Given the description of an element on the screen output the (x, y) to click on. 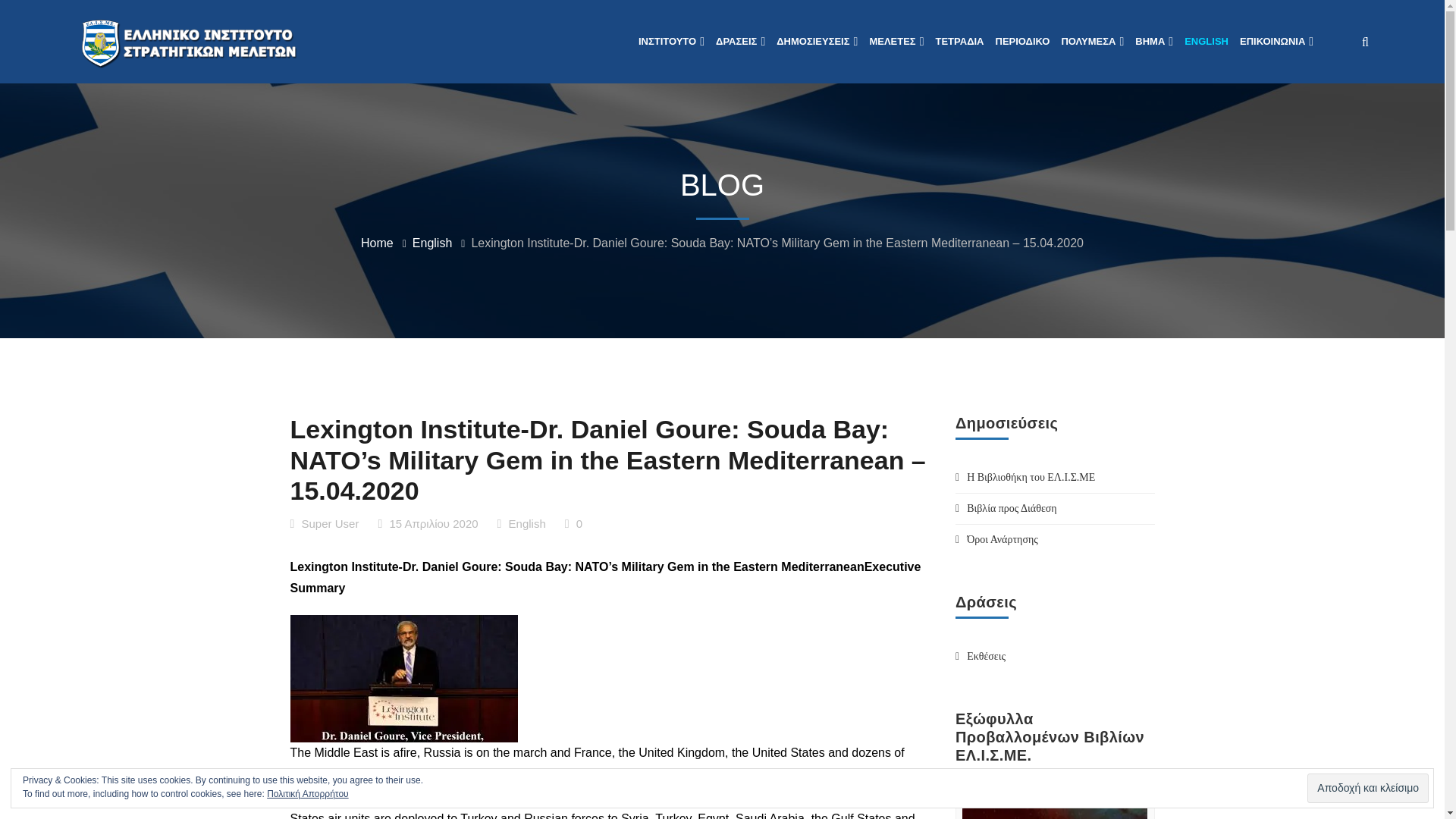
English (431, 242)
